Given the description of an element on the screen output the (x, y) to click on. 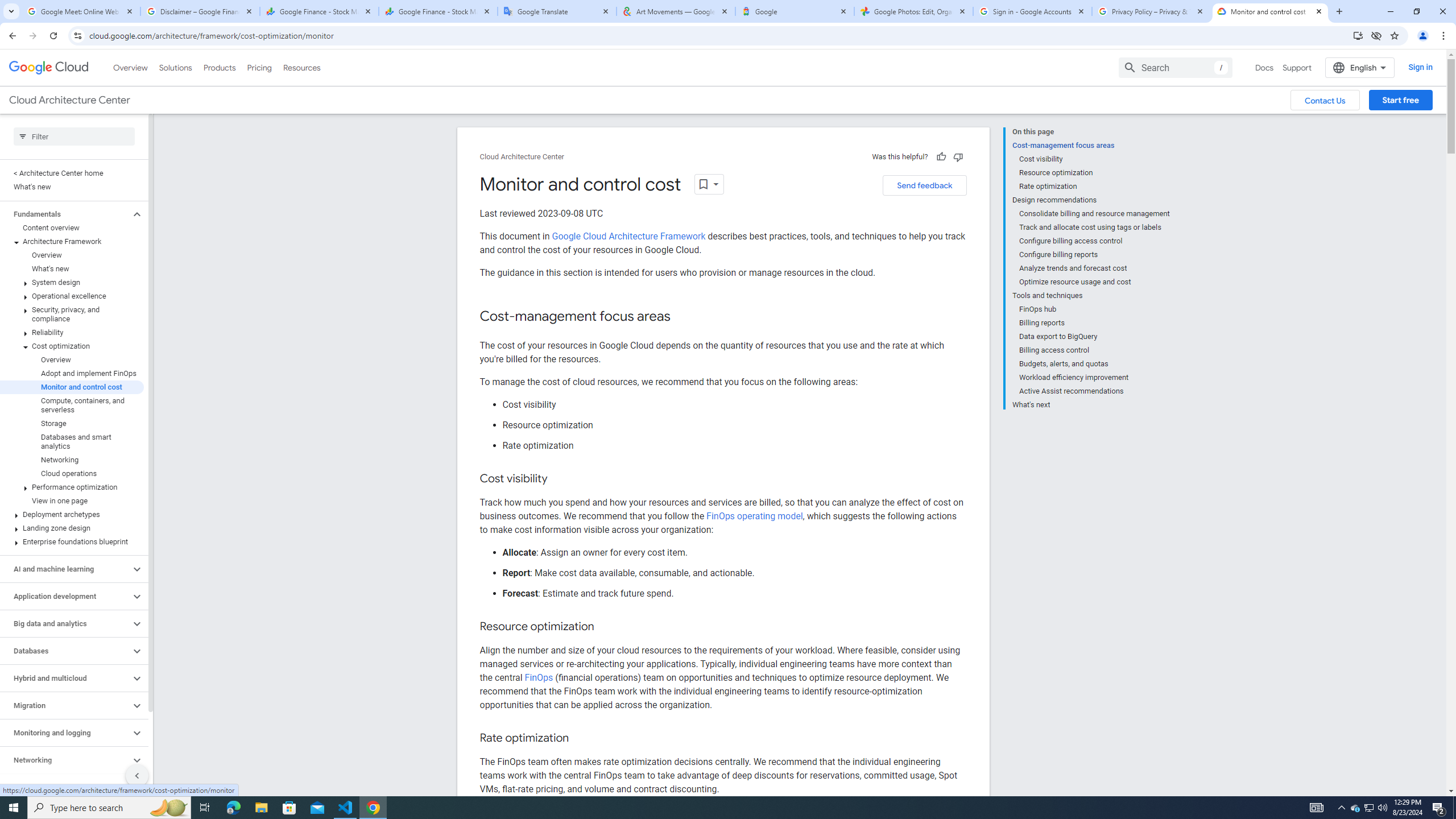
Reliability (72, 332)
Track and allocate cost using tags or labels (1094, 227)
Copy link to this section: Rate optimization (580, 738)
Budgets, alerts, and quotas (1094, 364)
Data export to BigQuery (1094, 336)
Rate optimization (1094, 186)
FinOps (538, 677)
< Architecture Center home (72, 173)
What's next (1090, 403)
Analyze trends and forecast cost (1094, 268)
